Given the description of an element on the screen output the (x, y) to click on. 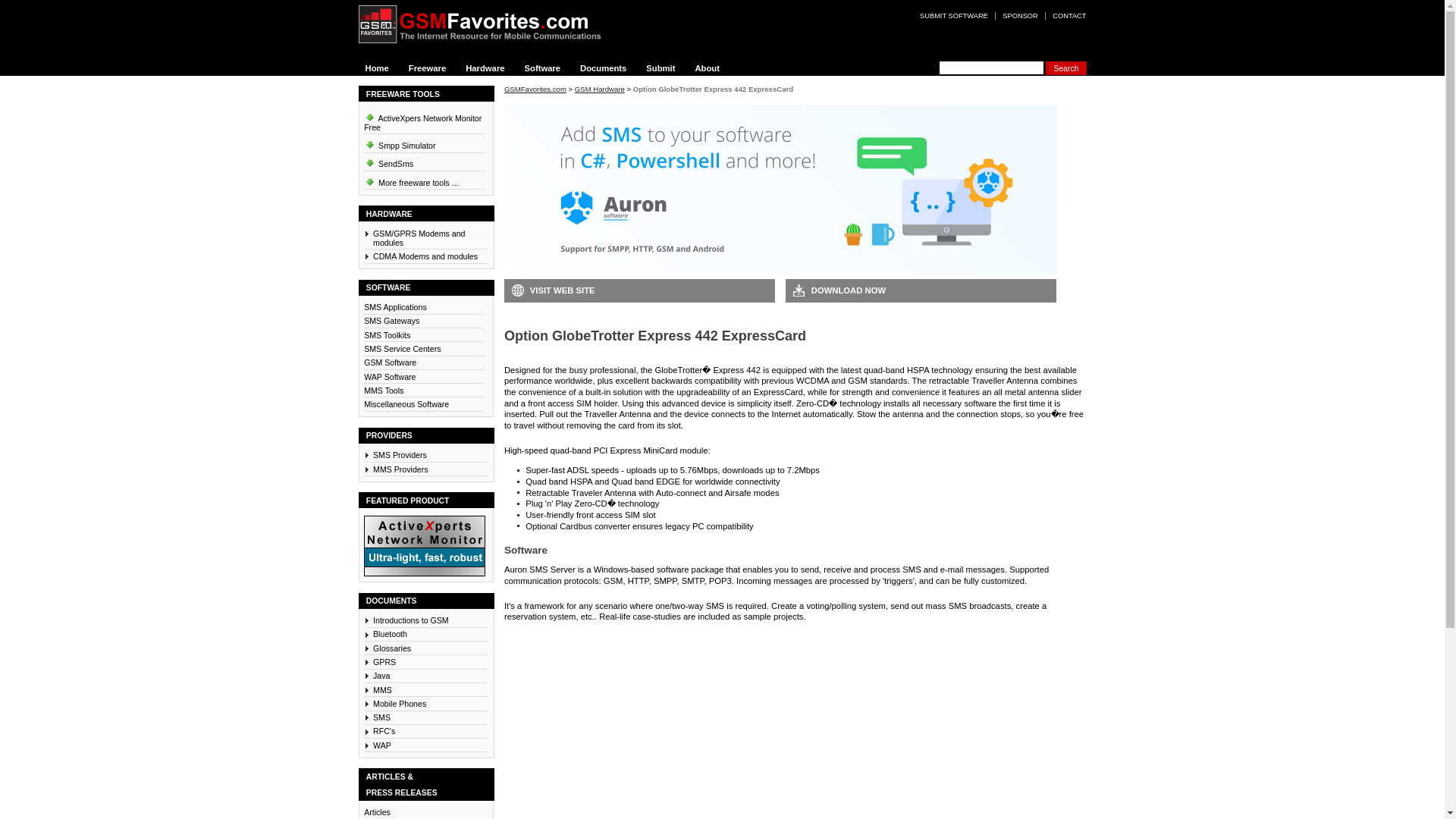
CONTACT (1065, 15)
Home (377, 68)
Search (1065, 68)
Hardware (485, 68)
Submit (660, 68)
SUBMIT SOFTWARE (953, 15)
Documents (603, 68)
SPONSOR (1019, 15)
Software (542, 68)
Freeware (427, 68)
GSMFavorites.com home page (490, 23)
Search (1065, 68)
About (707, 68)
